Given the description of an element on the screen output the (x, y) to click on. 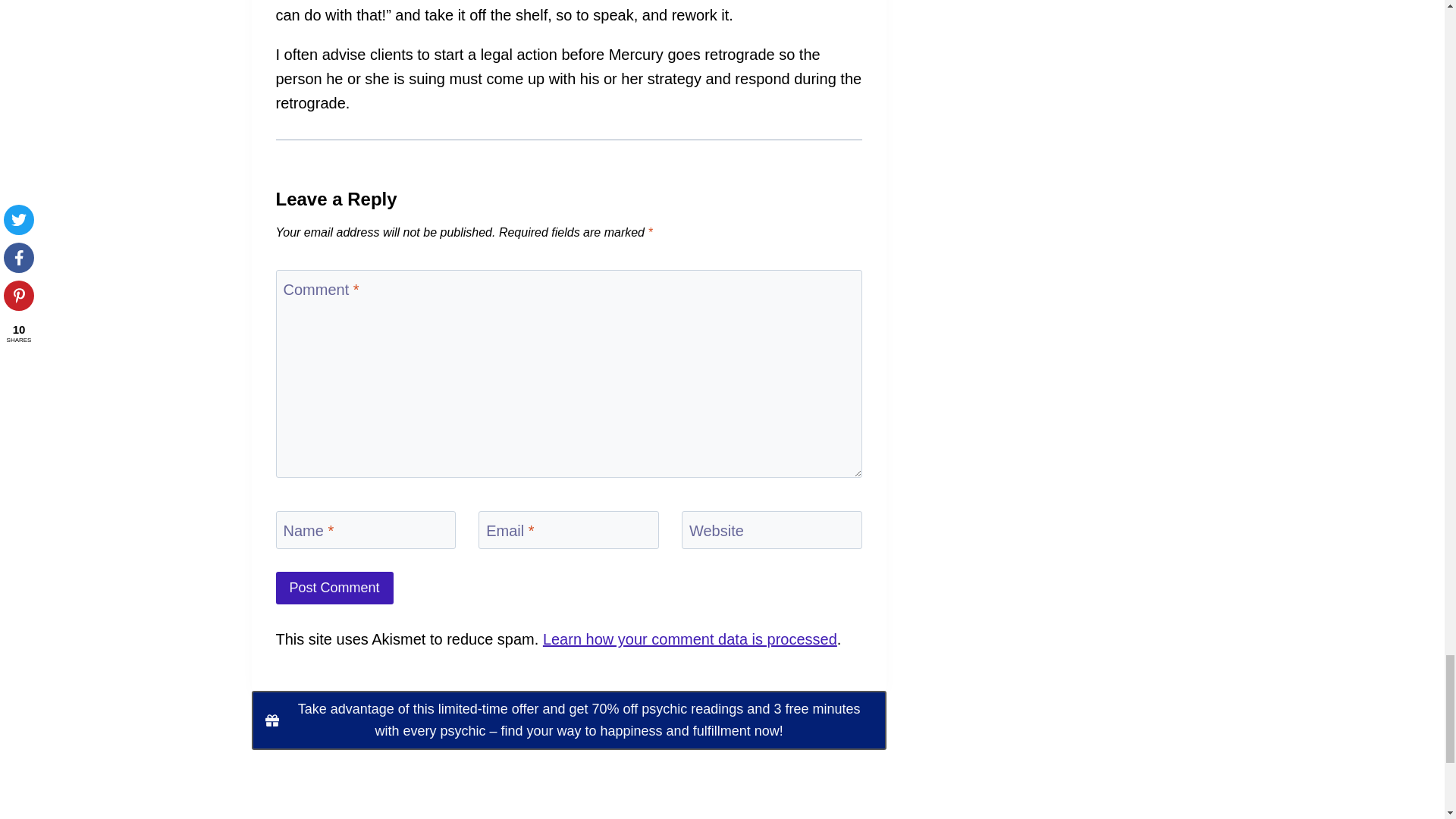
Post Comment (334, 587)
